Given the description of an element on the screen output the (x, y) to click on. 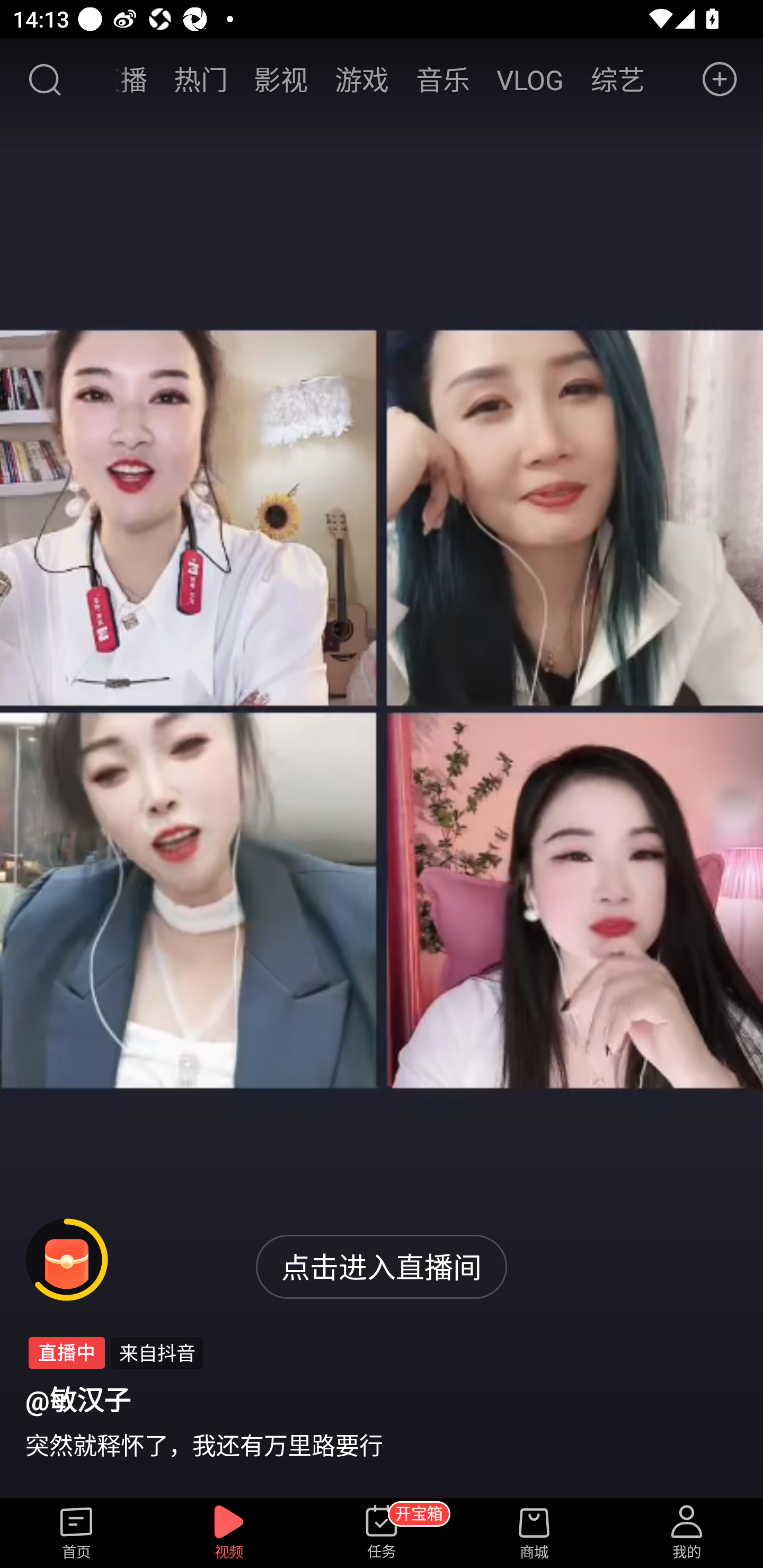
热门 (200, 79)
影视 (280, 79)
游戏 (361, 79)
音乐 (442, 79)
VLOG (529, 79)
综艺 (616, 79)
搜索 (44, 79)
发布 (720, 79)
阅读赚金币 (66, 1259)
点击进入直播间 (381, 1266)
来自抖音 @敏汉子 突然就释怀了，我还有万里路要行 (381, 1399)
首页 (76, 1532)
视频 (228, 1532)
任务 开宝箱 (381, 1532)
商城 (533, 1532)
我的 (686, 1532)
